Given the description of an element on the screen output the (x, y) to click on. 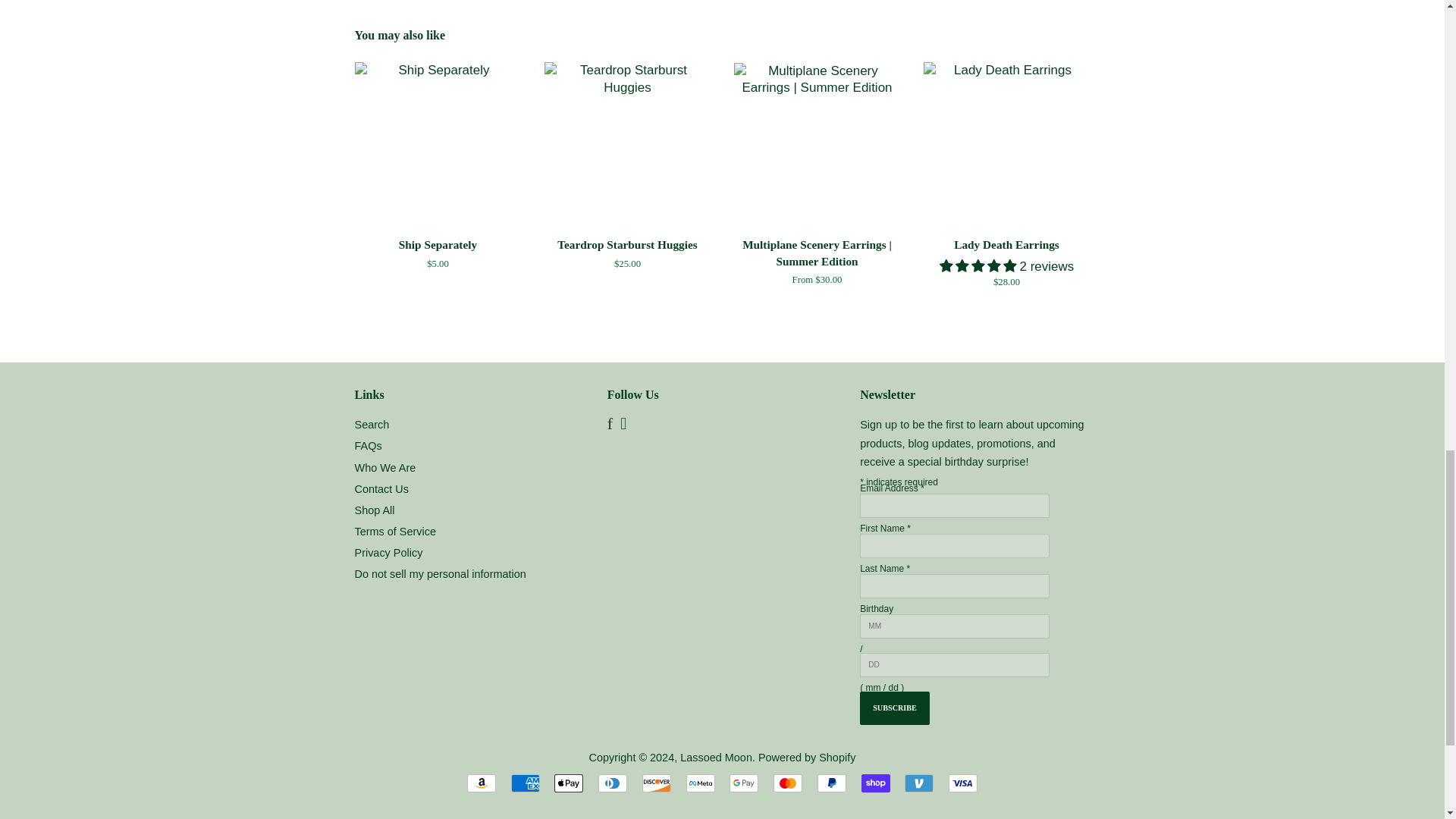
Discover (656, 782)
PayPal (830, 782)
Apple Pay (568, 782)
Meta Pay (699, 782)
Google Pay (743, 782)
Shop Pay (875, 782)
Visa (962, 782)
Mastercard (787, 782)
Venmo (918, 782)
Amazon (481, 782)
American Express (525, 782)
Subscribe (895, 707)
Diners Club (612, 782)
